Given the description of an element on the screen output the (x, y) to click on. 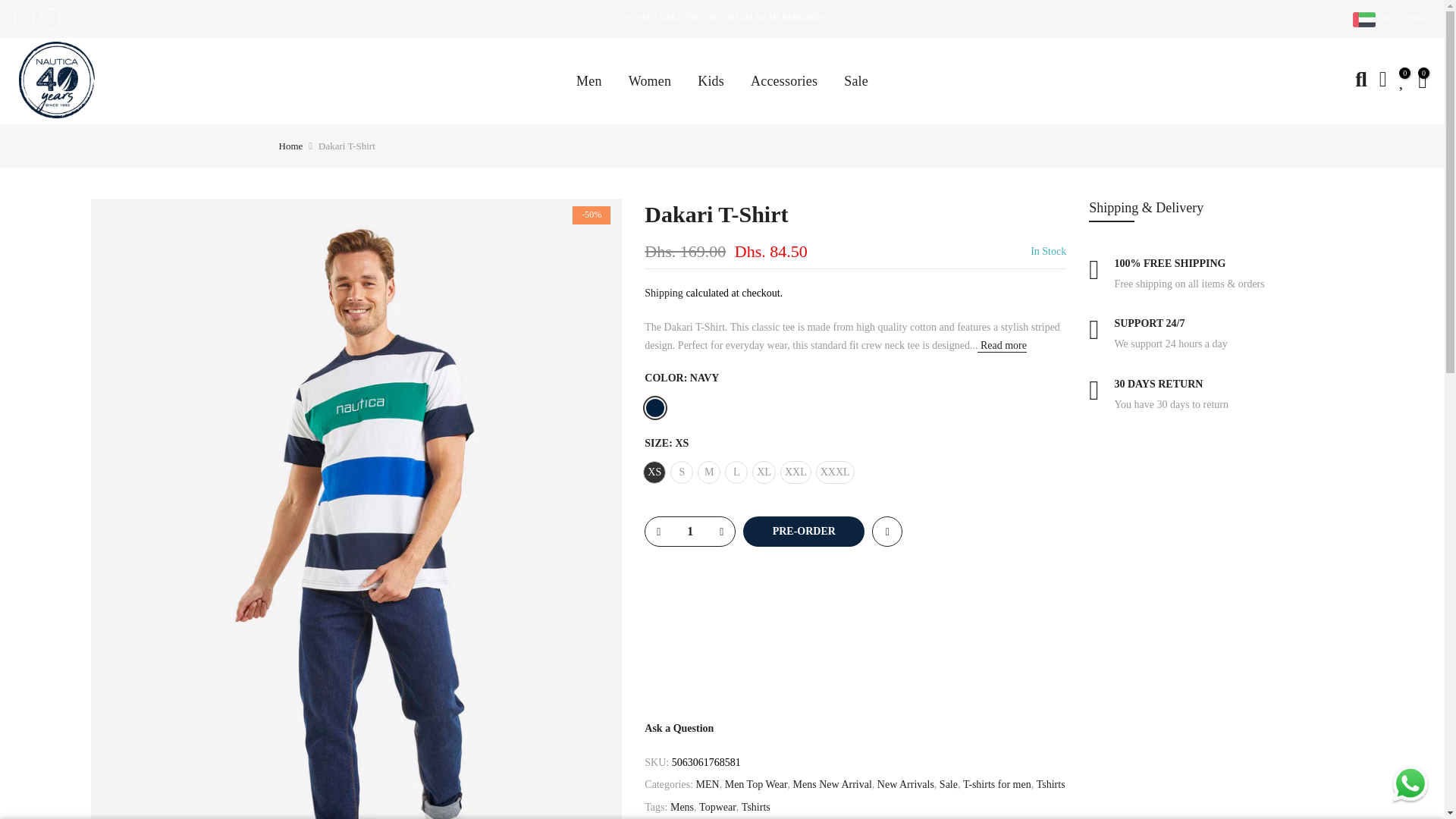
Men (589, 80)
1 (690, 531)
Women (649, 80)
